Given the description of an element on the screen output the (x, y) to click on. 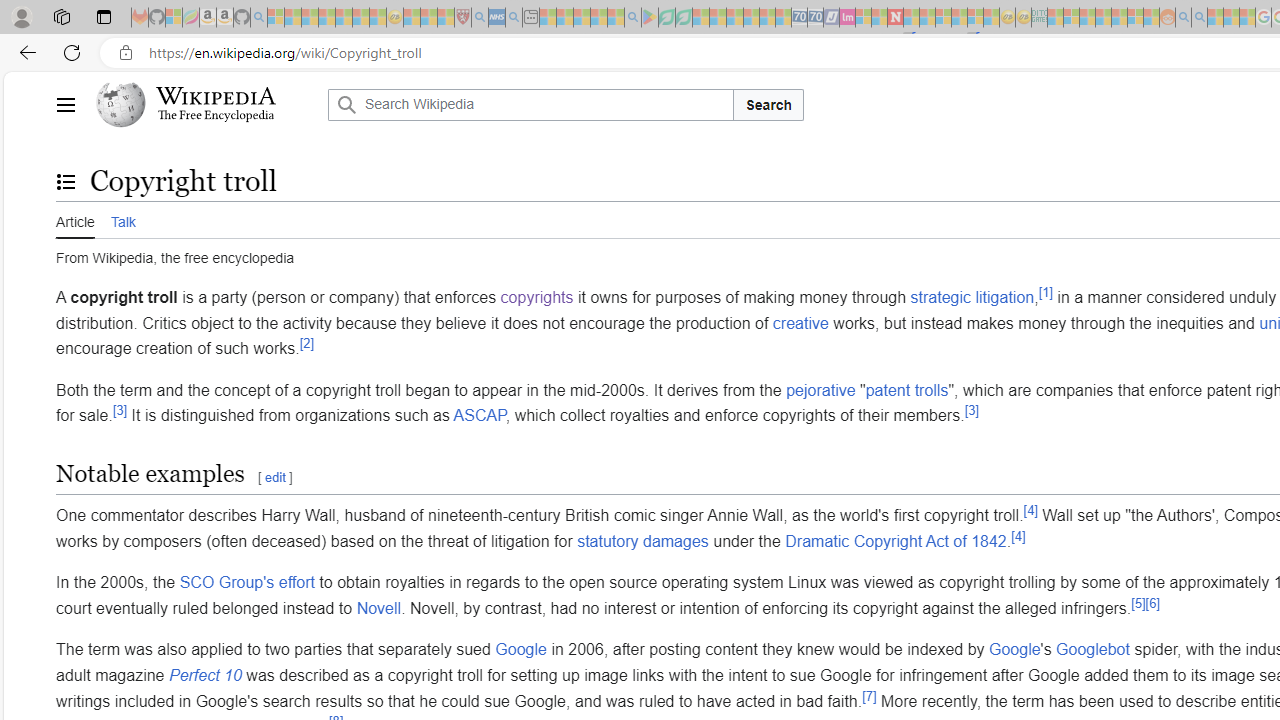
[6] (1152, 602)
Pets - MSN - Sleeping (598, 17)
Toggle the table of contents (65, 181)
Jobs - lastminute.com Investor Portal - Sleeping (847, 17)
Perfect 10 (204, 675)
[3] (971, 411)
Search Wikipedia (530, 104)
ASCAP (479, 415)
utah sues federal government - Search - Sleeping (513, 17)
